Given the description of an element on the screen output the (x, y) to click on. 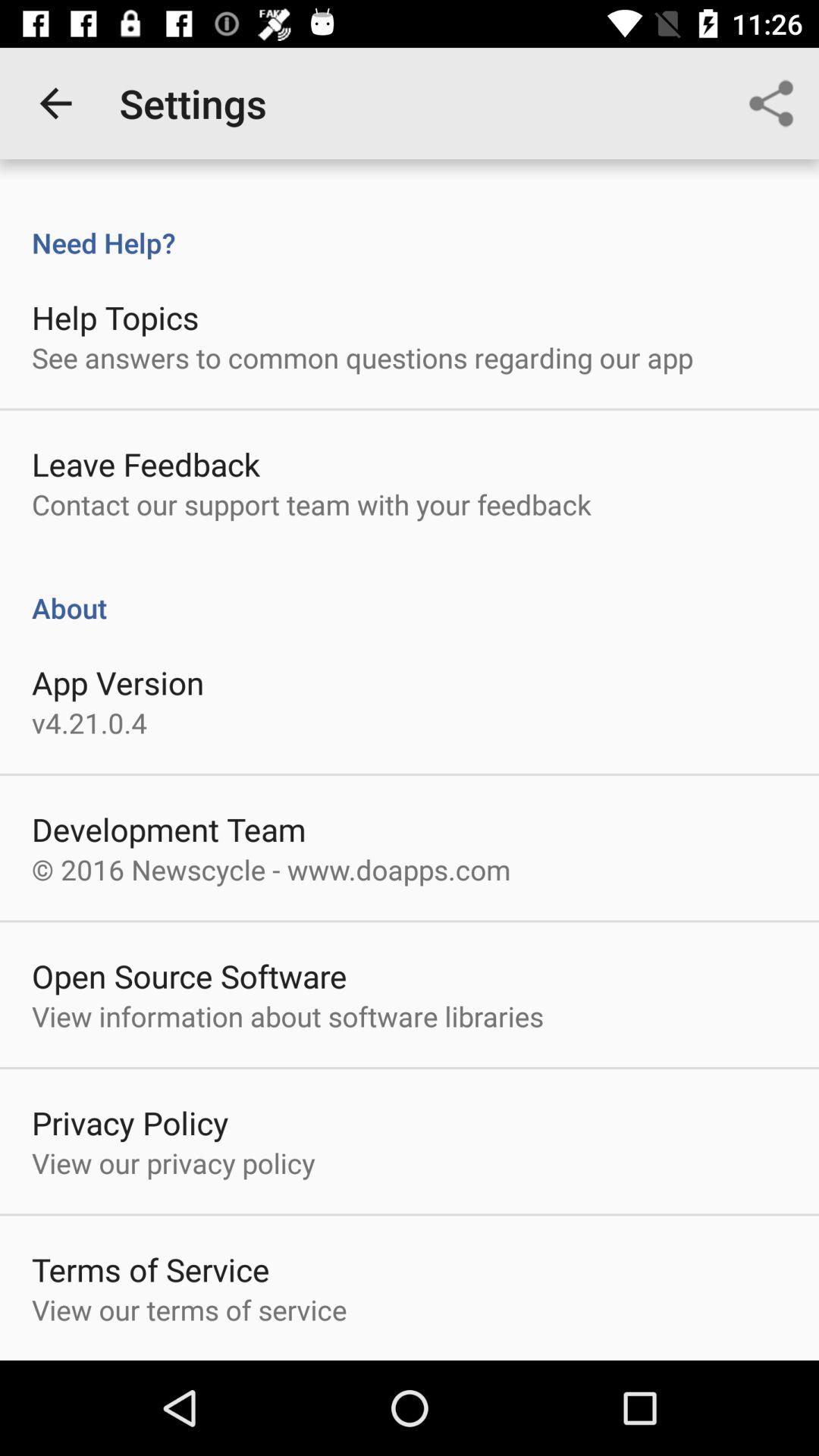
launch leave feedback (145, 463)
